Given the description of an element on the screen output the (x, y) to click on. 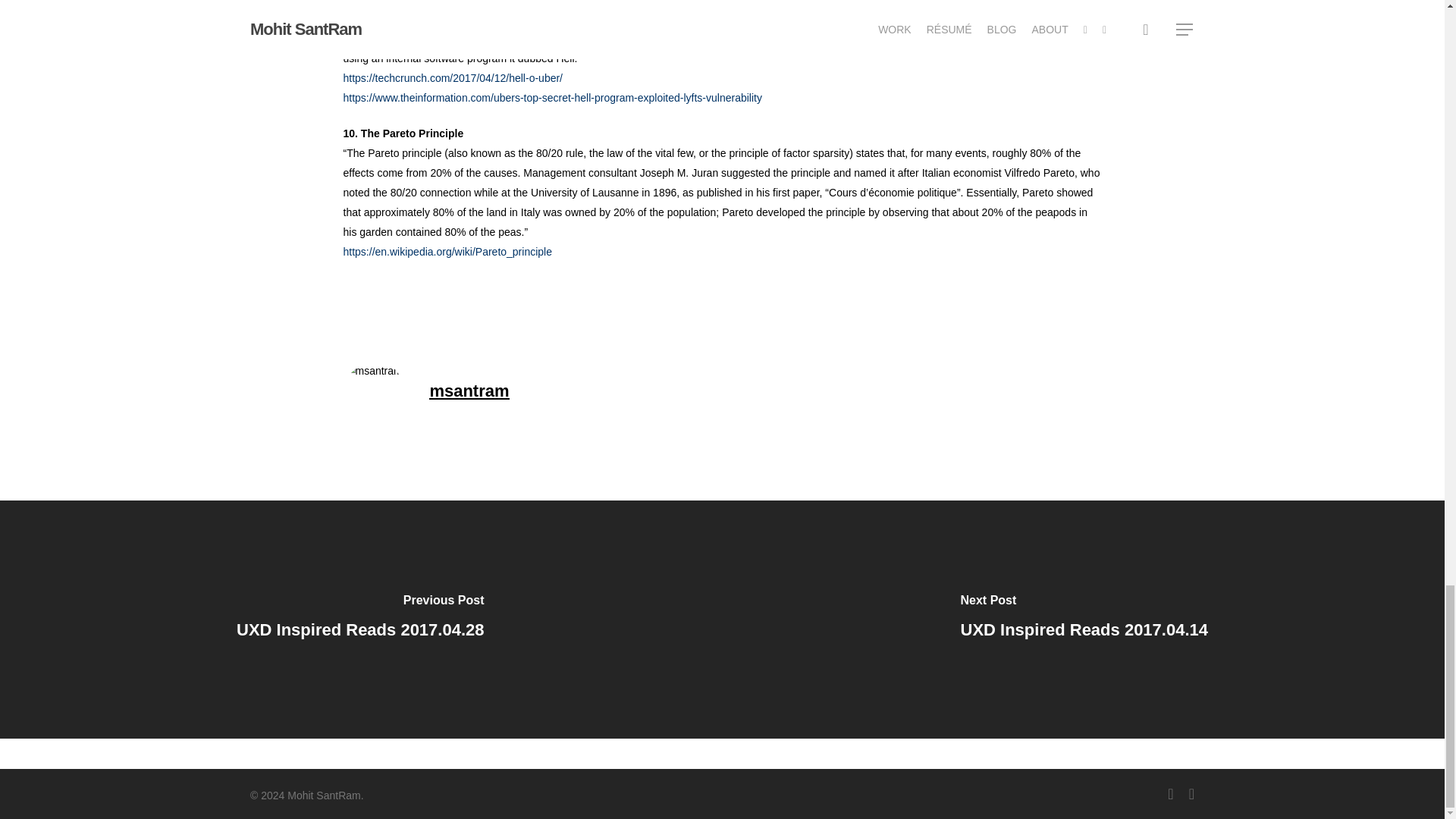
msantram (468, 390)
